Given the description of an element on the screen output the (x, y) to click on. 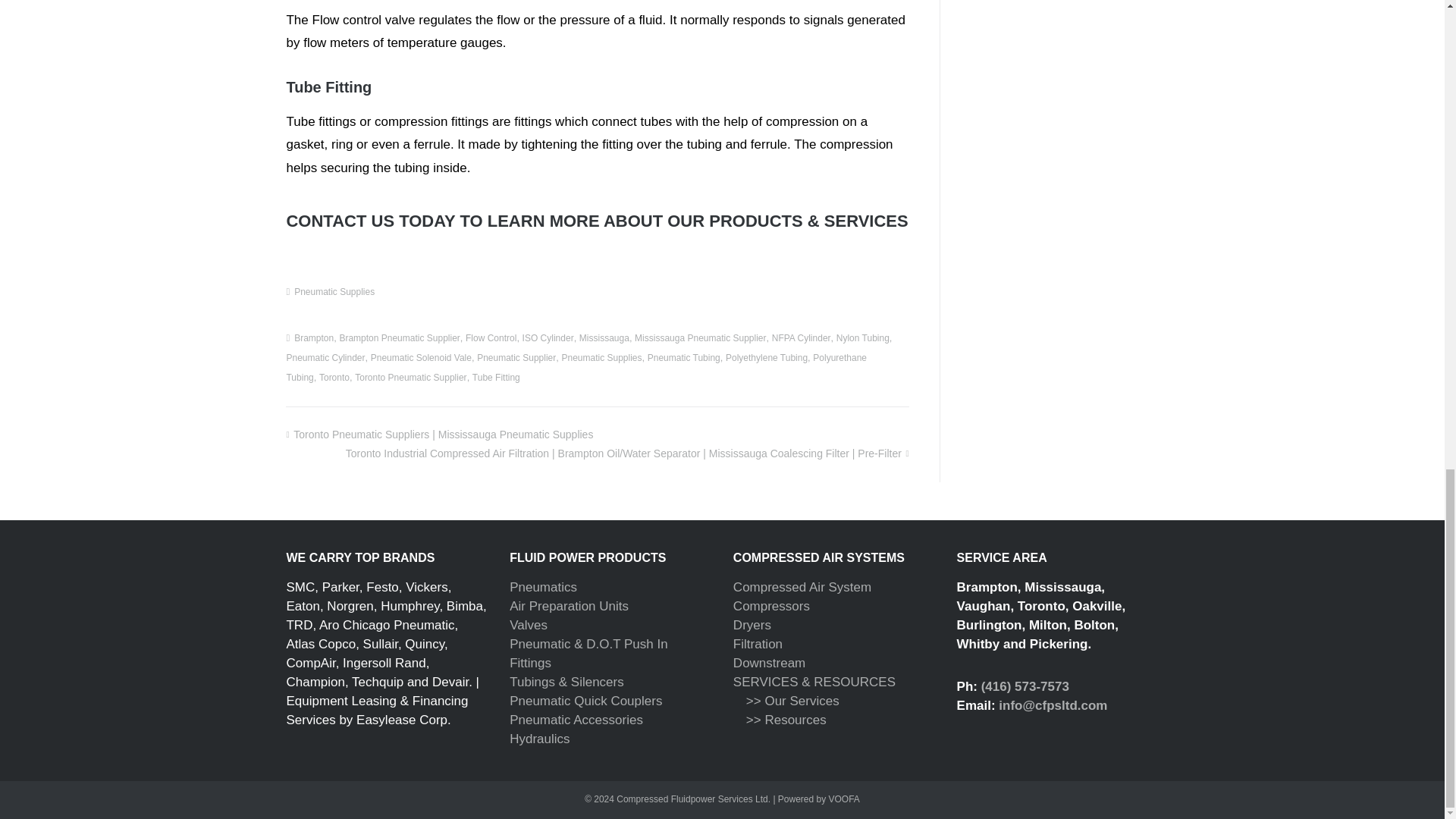
Brampton Pneumatic Supplier (399, 337)
ISO Cylinder (547, 337)
Brampton (313, 337)
Pneumatic Cylinder (325, 357)
Pneumatic Solenoid Vale (421, 357)
Mississauga Pneumatic Supplier (699, 337)
NFPA Cylinder (801, 337)
Mississauga (603, 337)
Pneumatic Supplies (334, 291)
Nylon Tubing (862, 337)
